Given the description of an element on the screen output the (x, y) to click on. 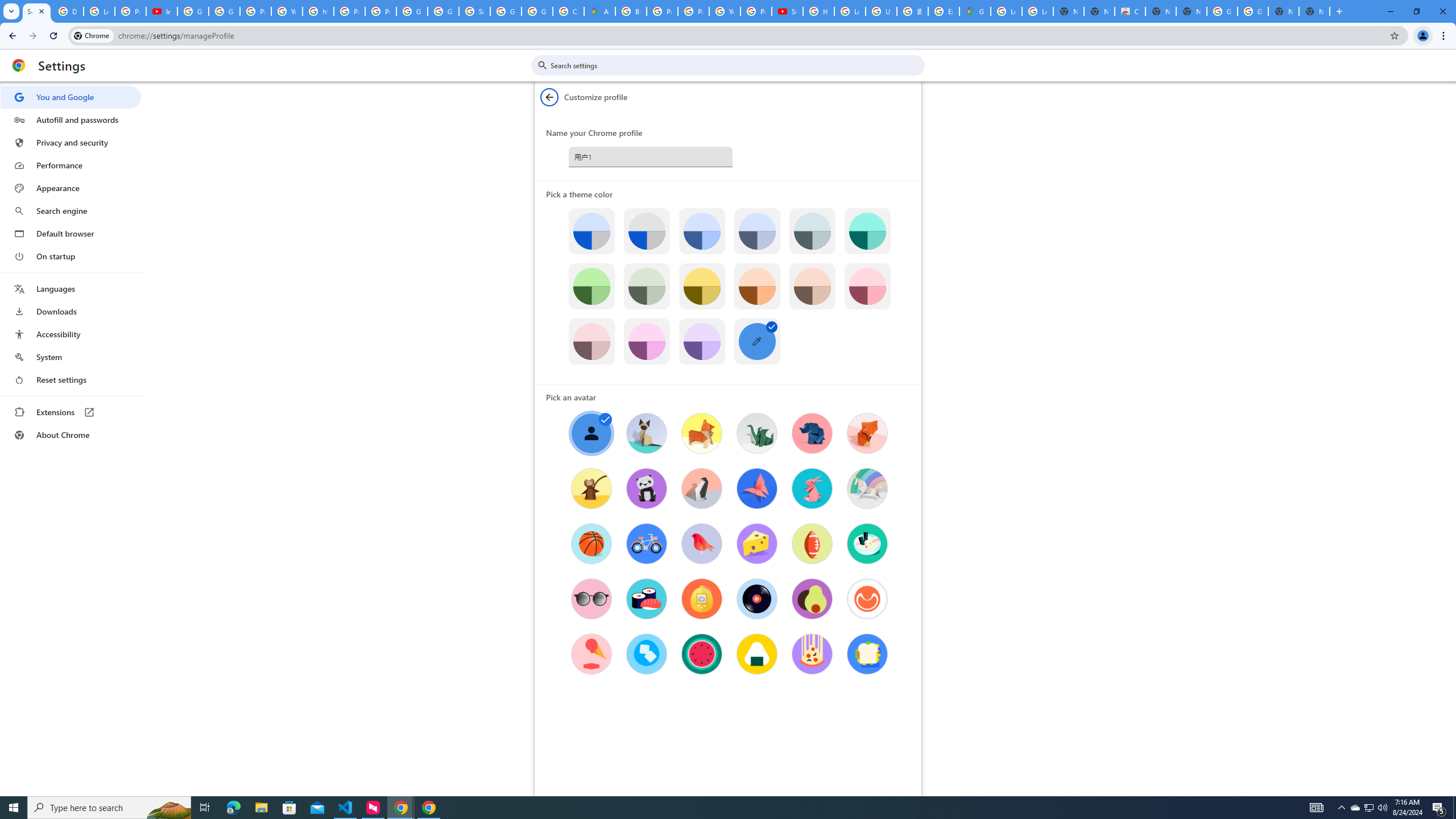
New Tab (1314, 11)
Sign in - Google Accounts (474, 11)
Default browser (70, 233)
Accessibility (70, 333)
Privacy Help Center - Policies Help (662, 11)
Chrome Web Store (1129, 11)
